Given the description of an element on the screen output the (x, y) to click on. 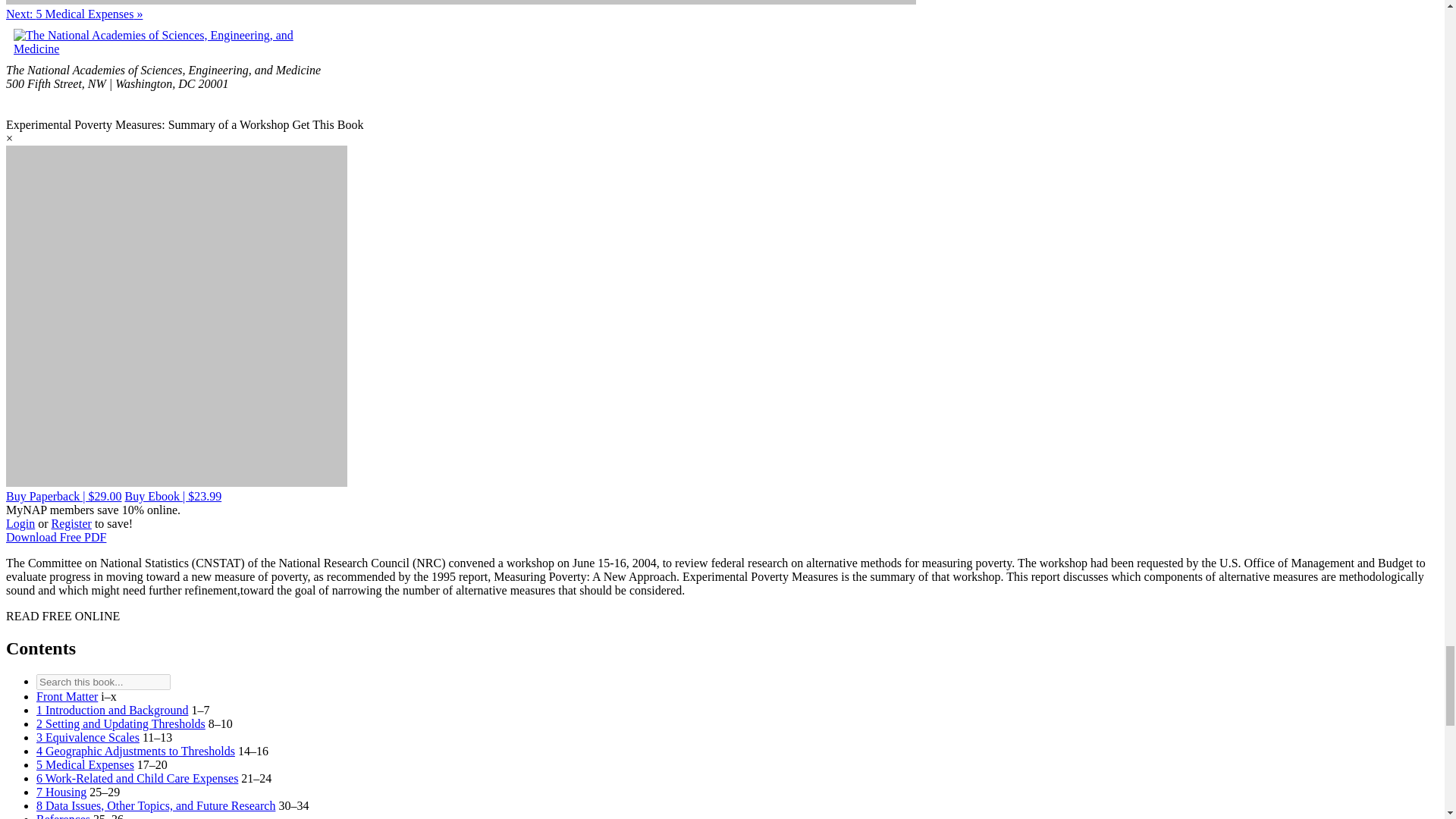
Next Chapter (73, 13)
